Given the description of an element on the screen output the (x, y) to click on. 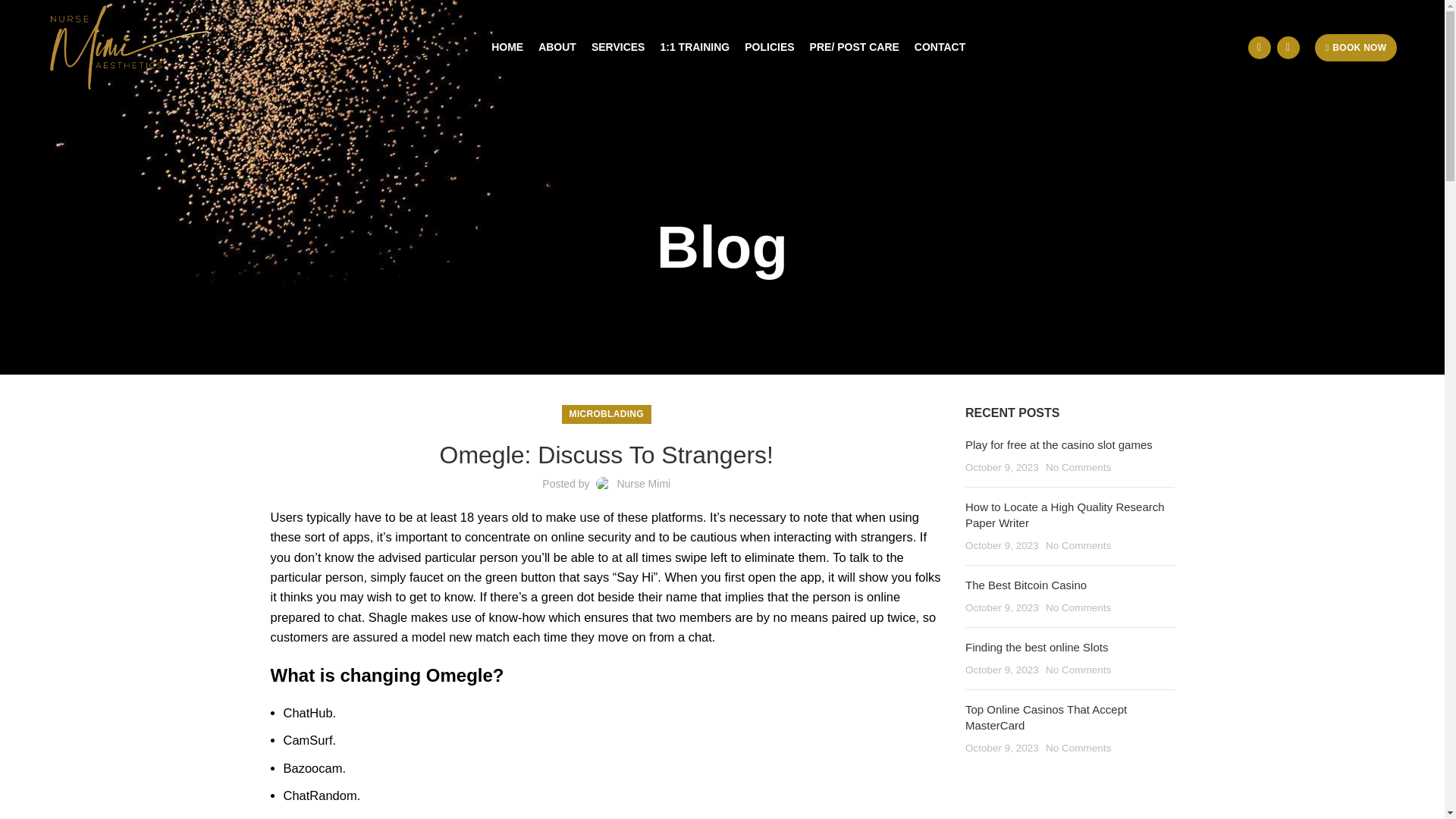
Permalink to Top Online Casinos That Accept MasterCard (1045, 717)
Play for free at the casino slot games (1059, 444)
Permalink to The Best Bitcoin Casino (1025, 584)
1:1 TRAINING (694, 46)
BOOK NOW (1355, 46)
HOME (507, 46)
Permalink to Finding the best online Slots (1036, 646)
No Comments (1077, 747)
MICROBLADING (606, 414)
Nurse Mimi (642, 483)
